Given the description of an element on the screen output the (x, y) to click on. 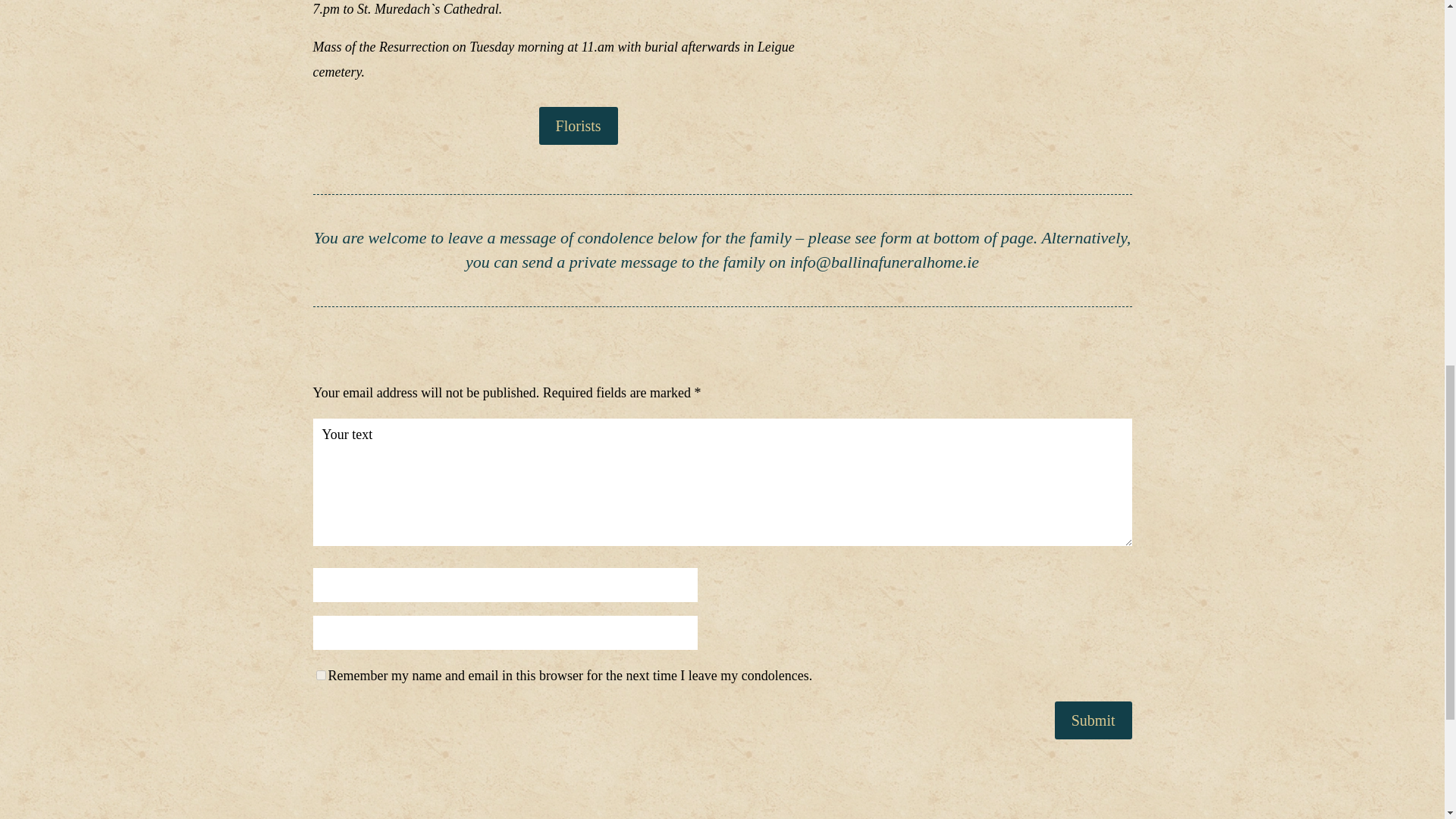
yes (319, 675)
Florists (577, 125)
Submit (1093, 720)
